Given the description of an element on the screen output the (x, y) to click on. 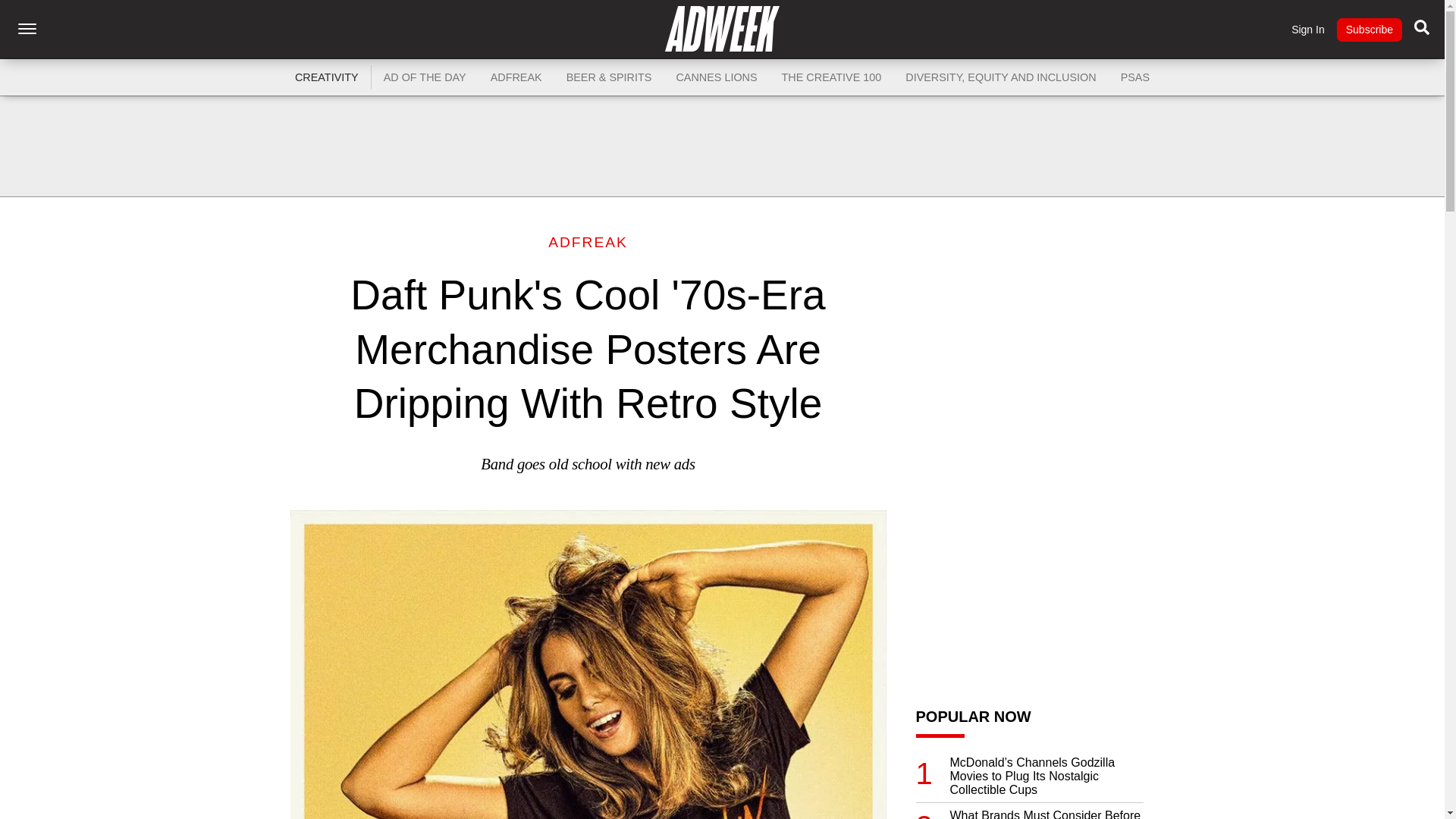
DIVERSITY, EQUITY AND INCLUSION (1000, 77)
CANNES LIONS (715, 77)
THE CREATIVE 100 (831, 77)
Subscribe (1369, 29)
ADFREAK (516, 77)
AD OF THE DAY (425, 77)
Sign In (1307, 29)
Toggle Main Menu (26, 28)
CREATIVITY (326, 77)
